Given the description of an element on the screen output the (x, y) to click on. 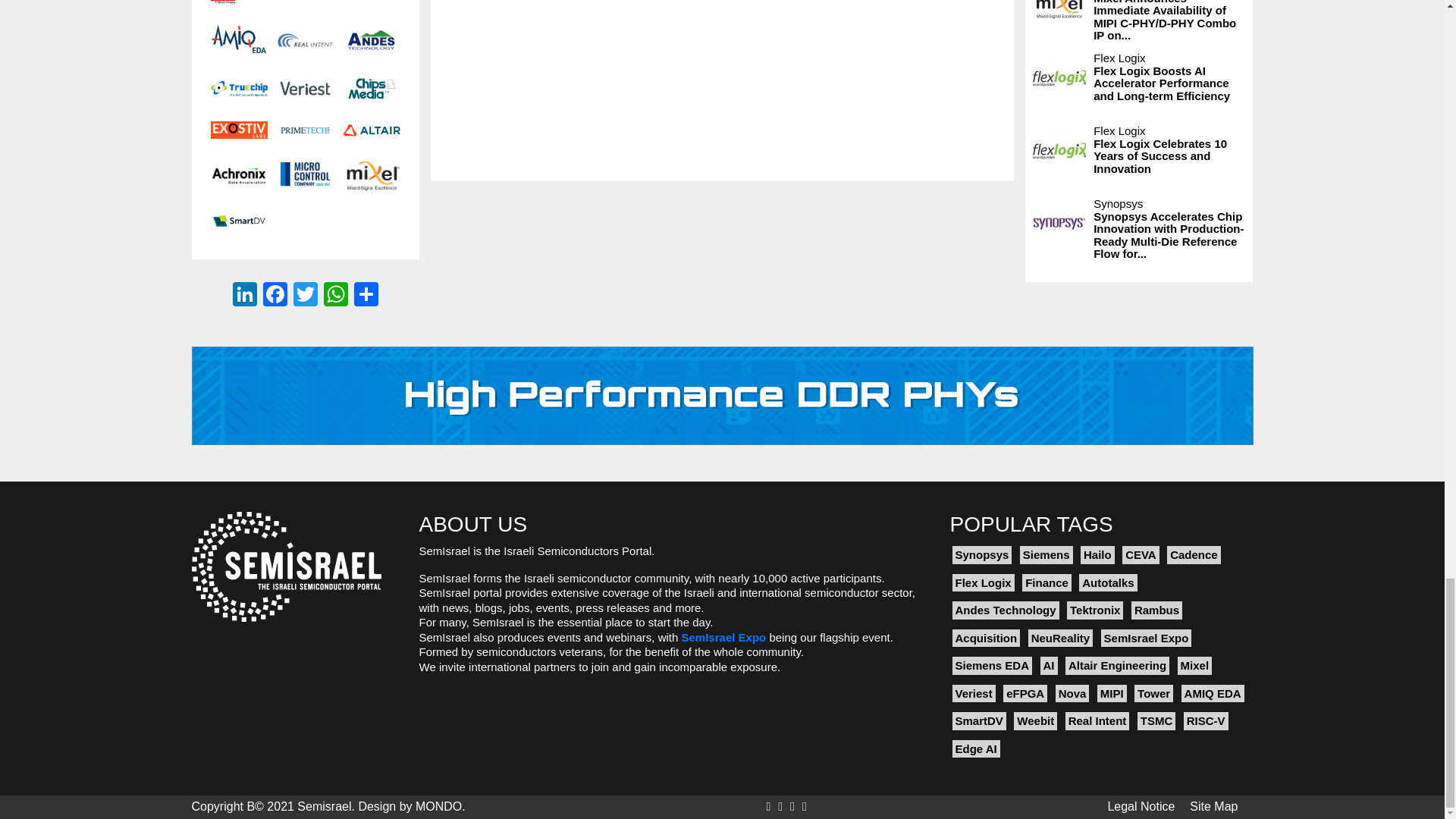
Twitter (304, 295)
LinkedIn (245, 295)
Facebook (274, 295)
WhatsApp (335, 295)
